Given the description of an element on the screen output the (x, y) to click on. 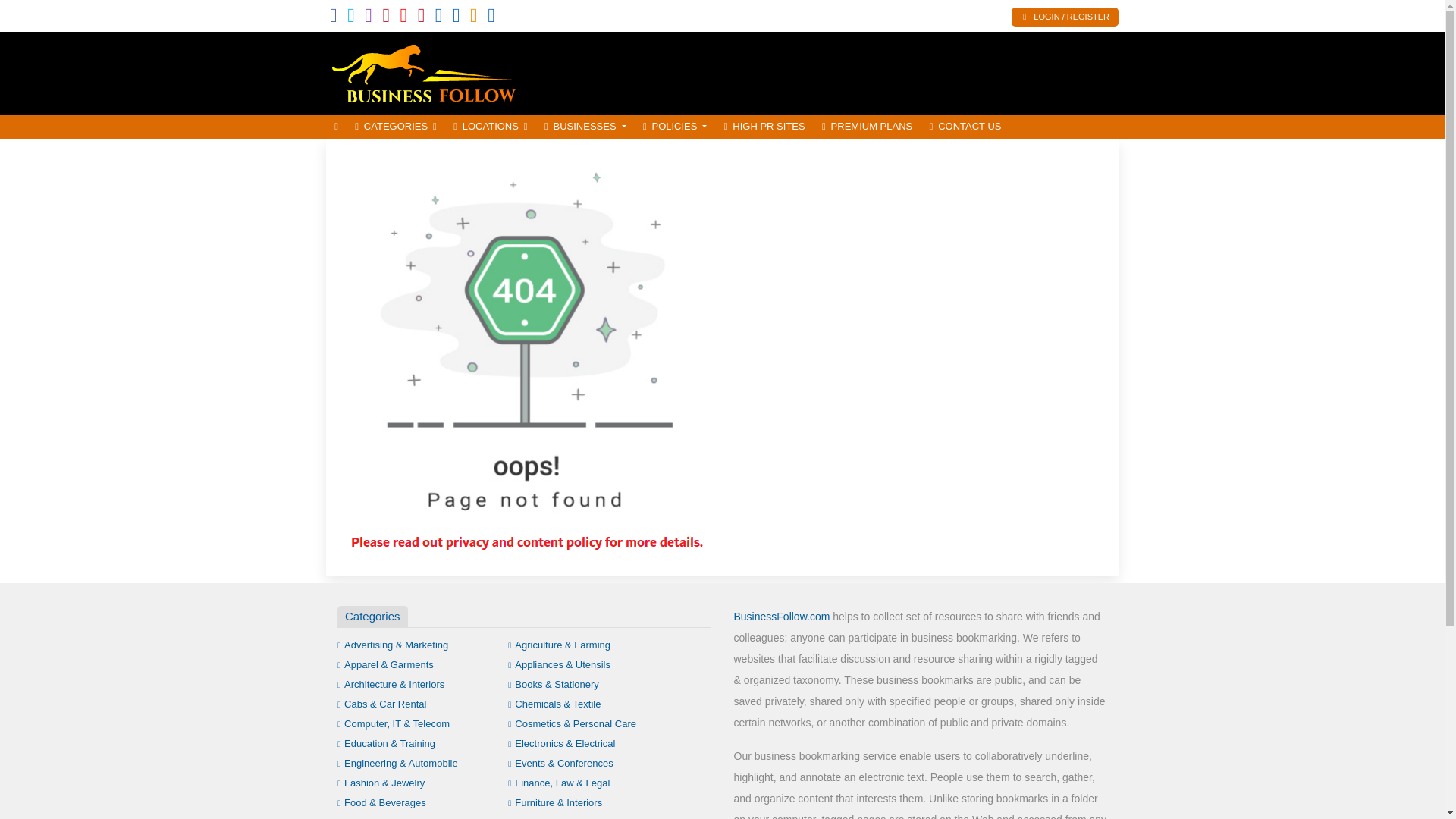
Collection of Business News and Social Directories Manager (428, 71)
CATEGORIES (395, 126)
